Given the description of an element on the screen output the (x, y) to click on. 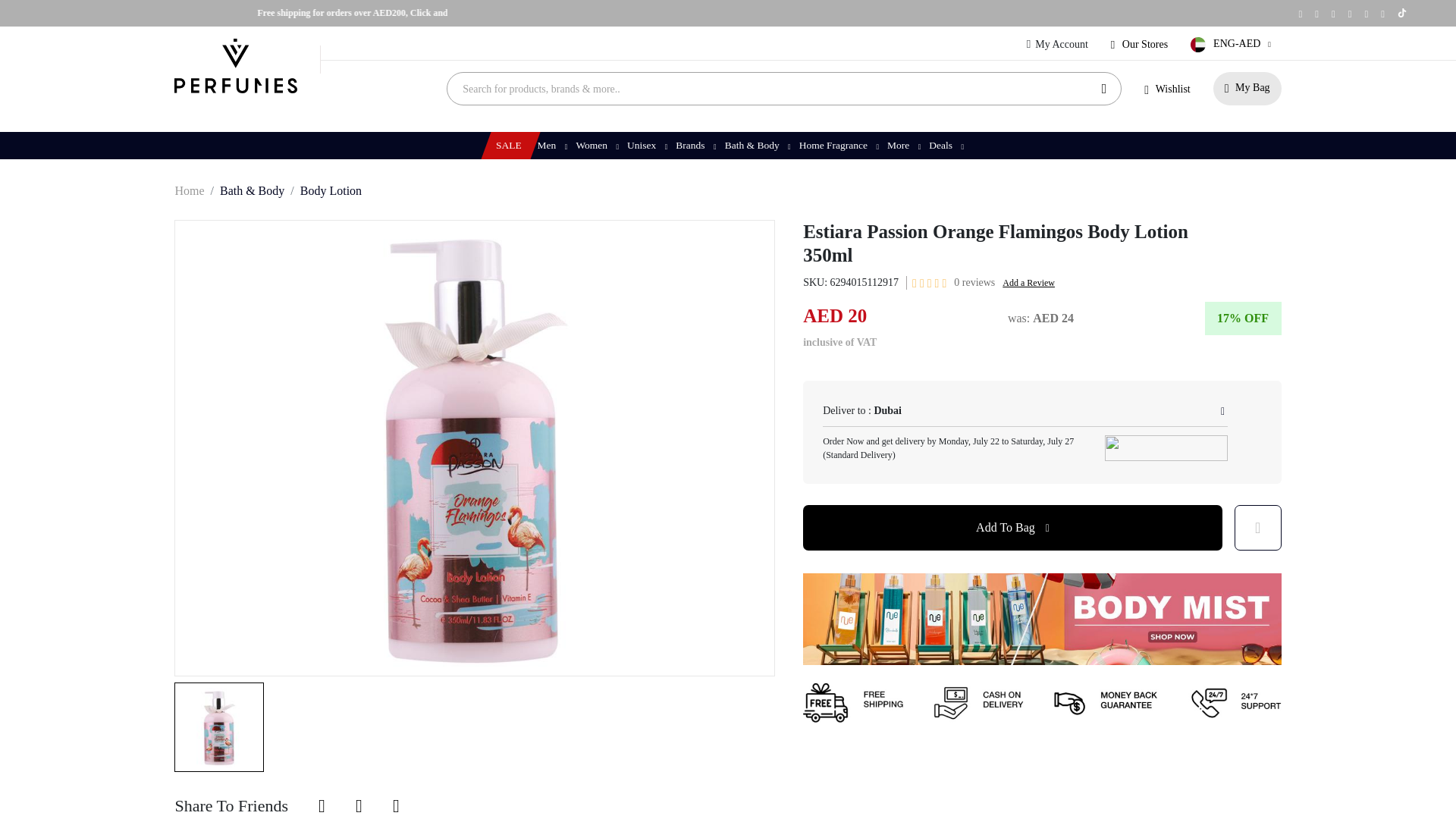
ENG-AED (1233, 44)
SALE (507, 144)
Home Fragrance (837, 144)
My Bag (1246, 88)
Our Stores (1138, 43)
Brands (694, 144)
Deals (944, 144)
Men (551, 144)
More (902, 144)
Wishlist (1166, 89)
Women (595, 144)
Unisex (645, 144)
Body Lotion (330, 190)
